Given the description of an element on the screen output the (x, y) to click on. 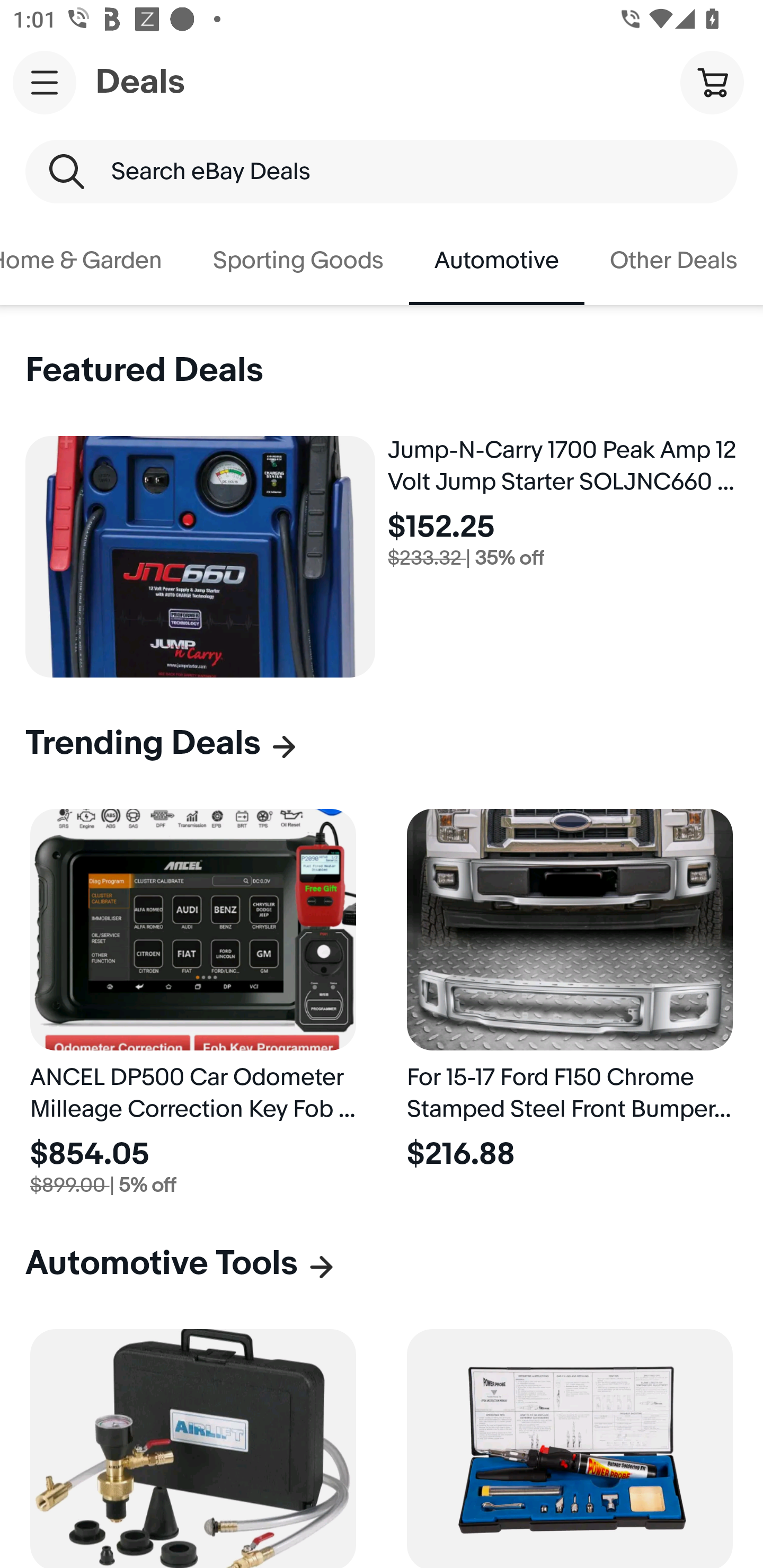
Main navigation, open (44, 82)
Cart button shopping cart (711, 81)
Search eBay Deals Search Keyword Search eBay Deals (381, 171)
Home & Garden. Button. 4 of 7. Home & Garden (93, 260)
Sporting Goods. Button. 5 of 7. Sporting Goods (297, 260)
Other Deals. Button. 7 of 7. Other Deals (673, 260)
Featured Deals Featured Deals,1 item (144, 370)
Trending Deals   Trending Deals,2 items (162, 743)
Automotive Tools   Automotive Tools,2 items (181, 1262)
